Given the description of an element on the screen output the (x, y) to click on. 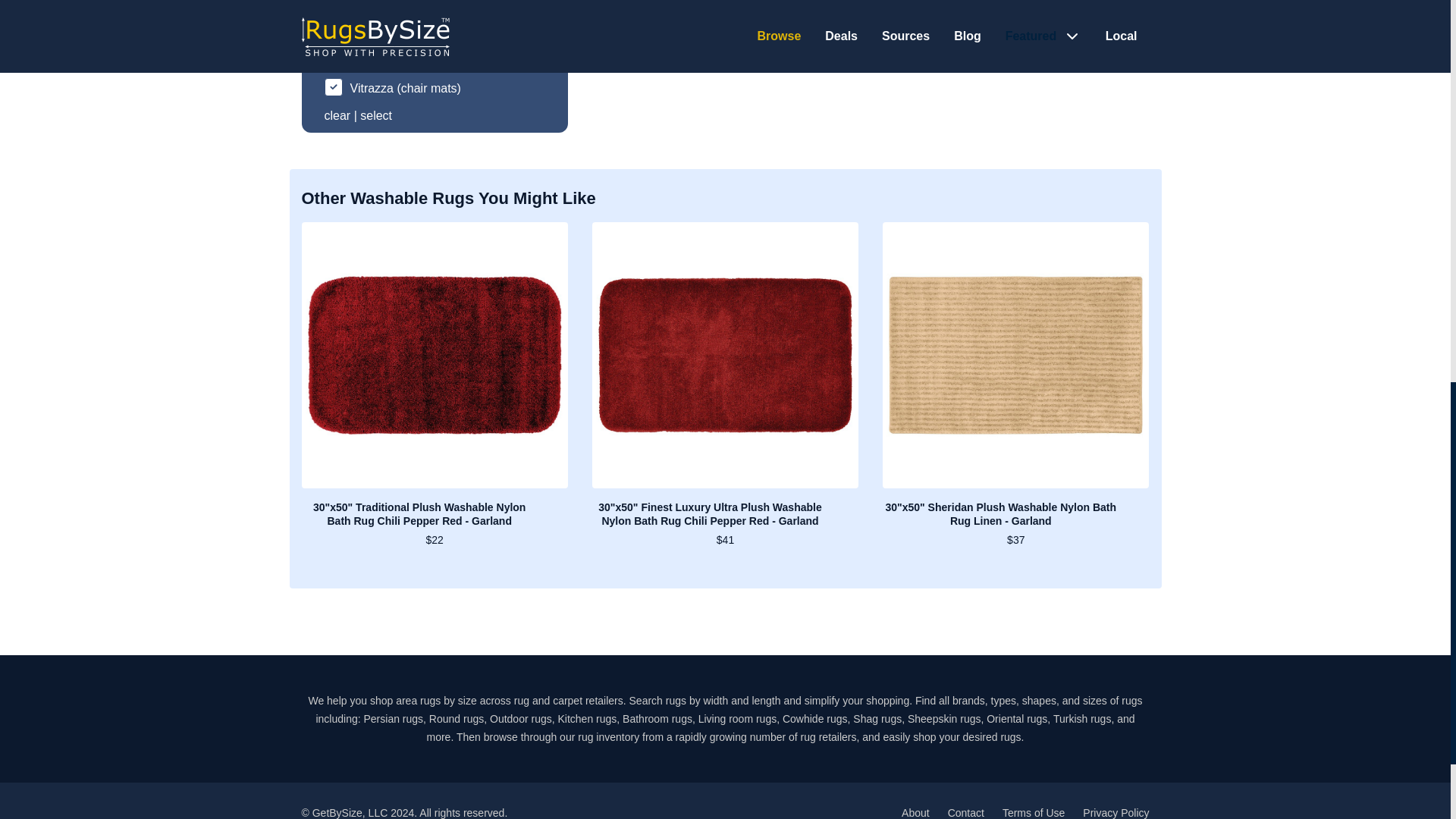
Terms of Use (1033, 812)
Contact (965, 812)
About (915, 812)
Privacy Policy (1115, 812)
clear (337, 115)
select (375, 115)
